Given the description of an element on the screen output the (x, y) to click on. 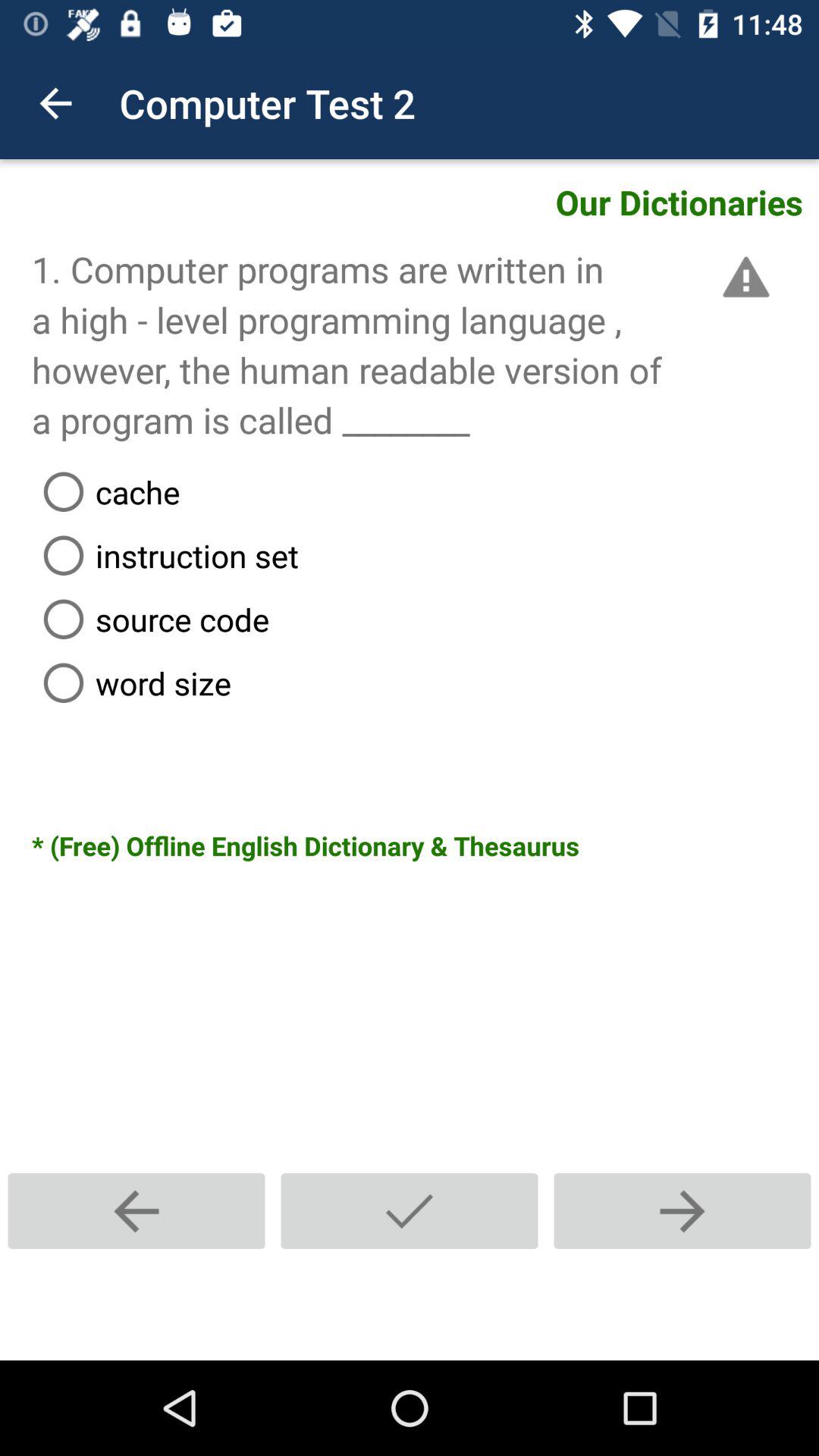
press icon at the bottom left corner (136, 1210)
